Given the description of an element on the screen output the (x, y) to click on. 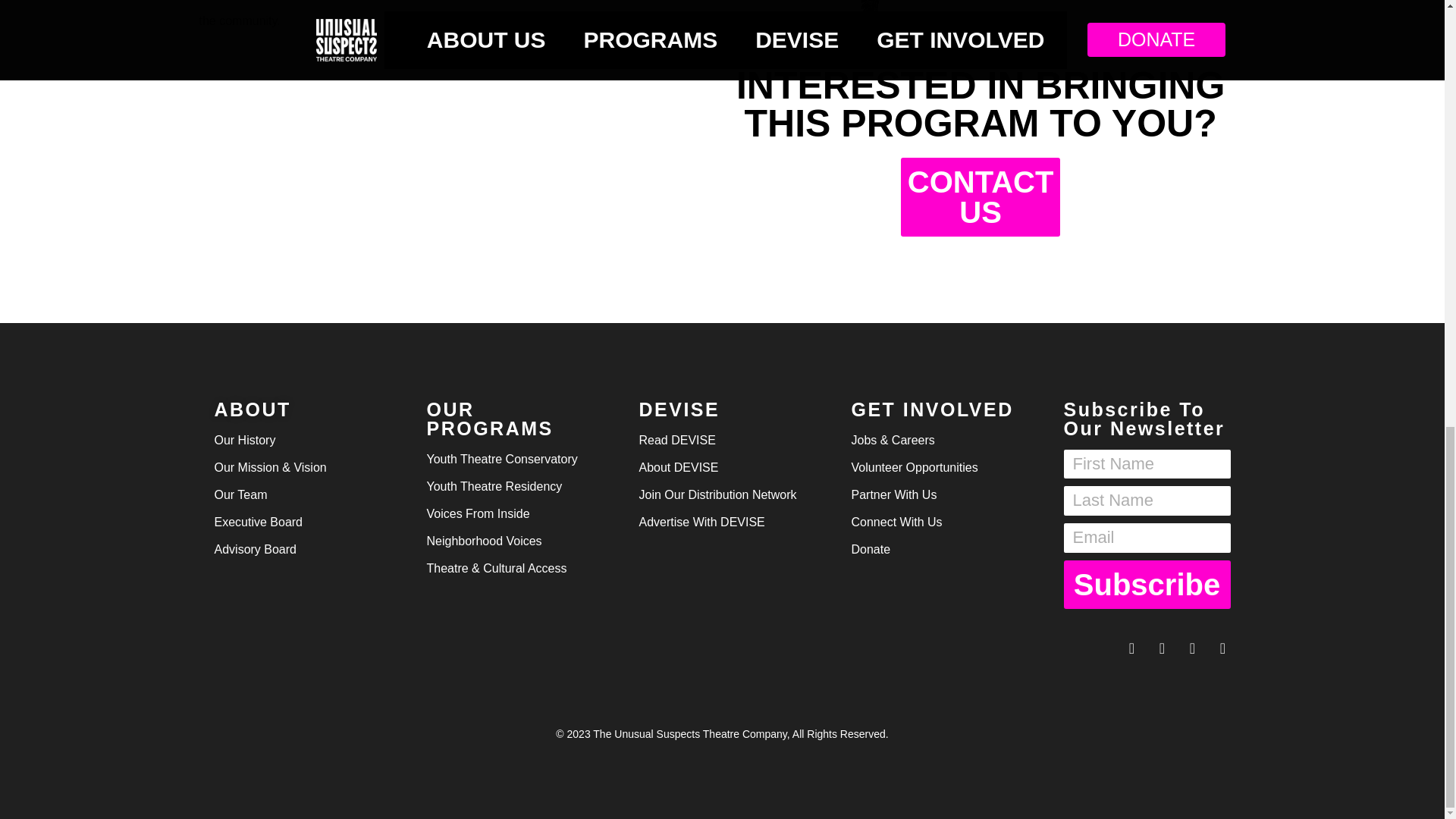
Page 5 (452, 18)
